Given the description of an element on the screen output the (x, y) to click on. 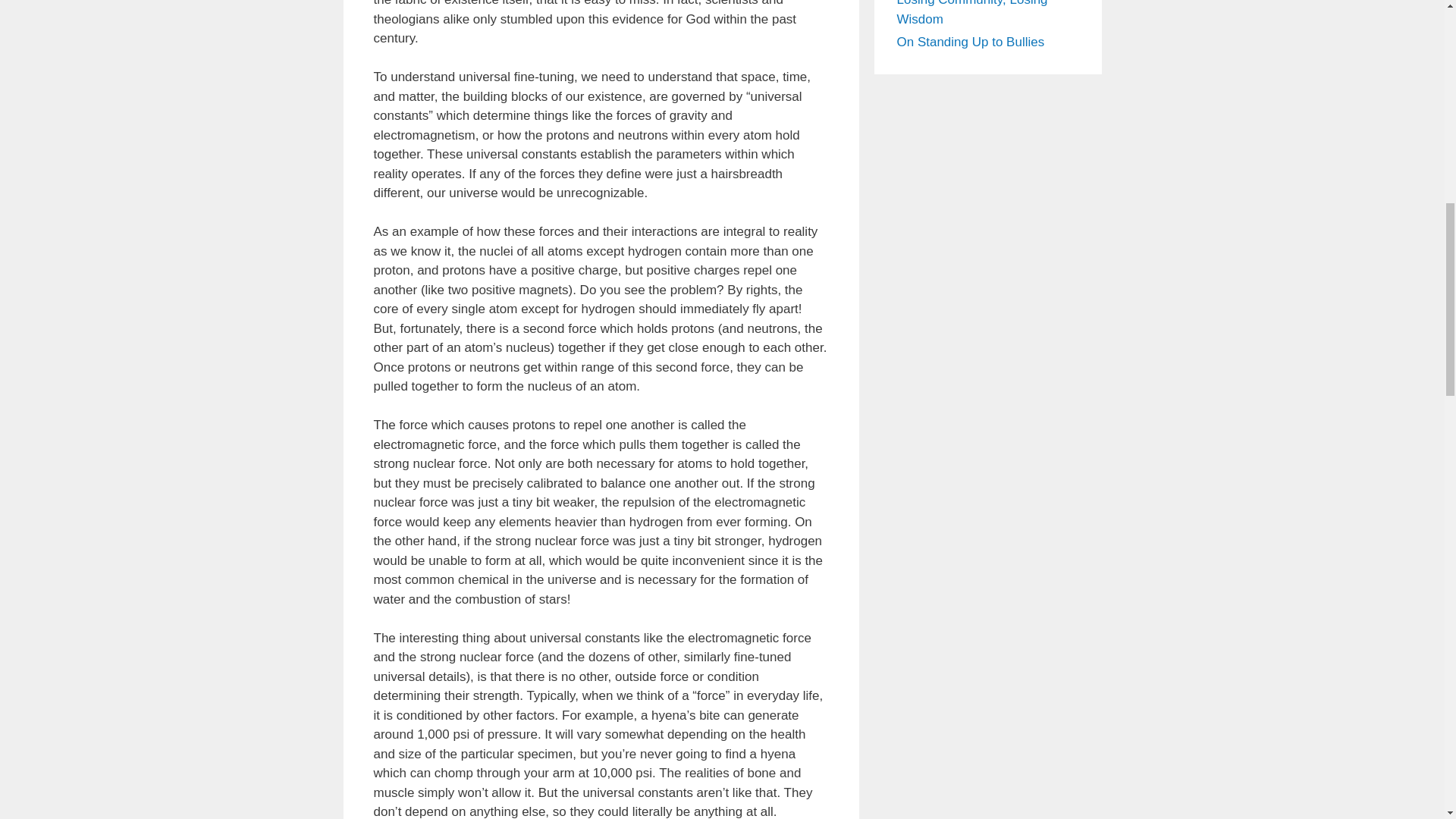
On Standing Up to Bullies (969, 42)
Losing Community, Losing Wisdom (971, 13)
